Given the description of an element on the screen output the (x, y) to click on. 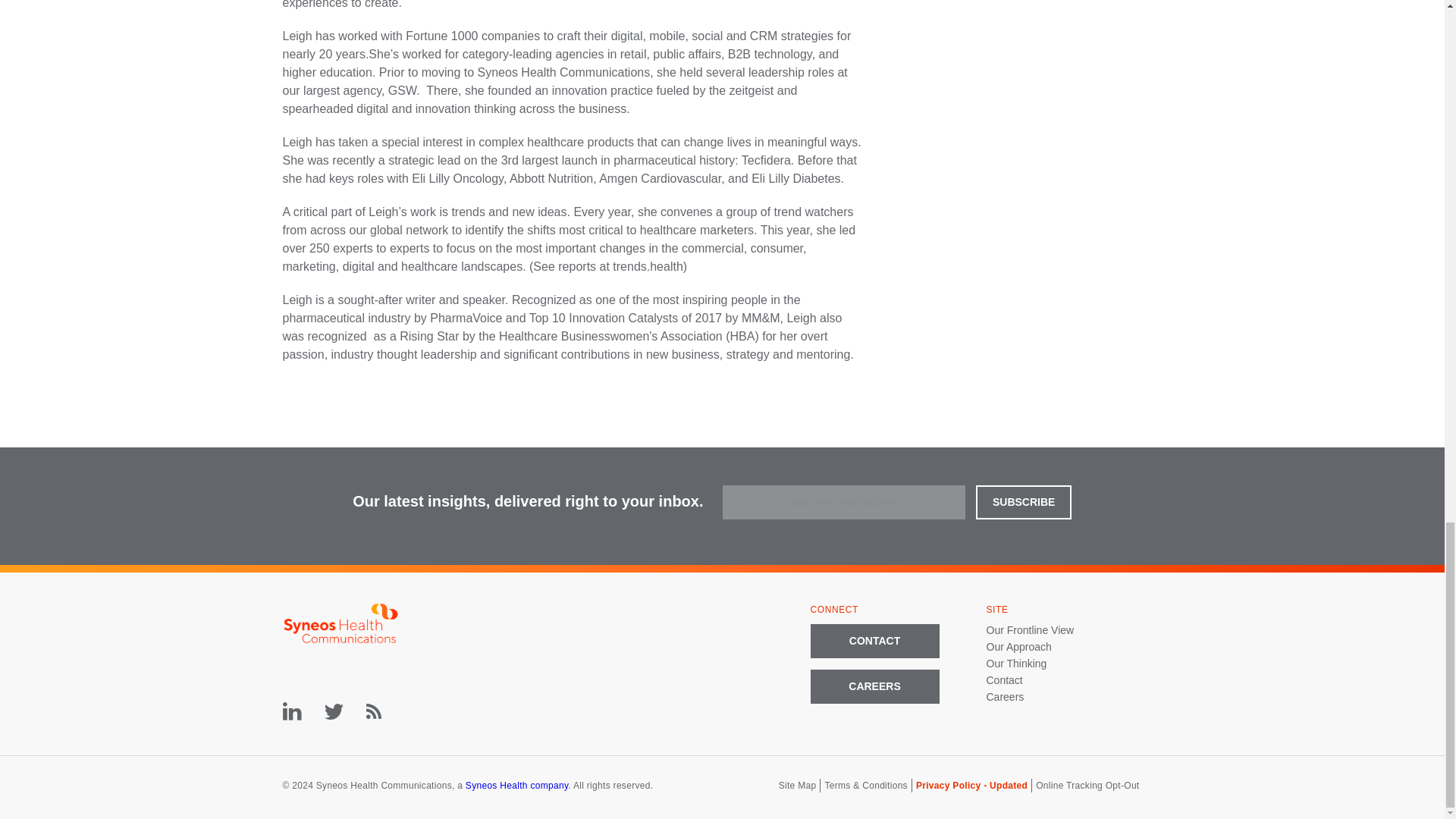
Careers (1004, 696)
SUBSCRIBE (1023, 502)
CAREERS (874, 686)
Our Frontline View (1029, 630)
Our Approach (1018, 646)
Online Tracking Opt-Out (1086, 785)
Privacy Policy - Updated (971, 785)
Site Map (797, 785)
Our Thinking (1015, 663)
Contact (1003, 680)
